Given the description of an element on the screen output the (x, y) to click on. 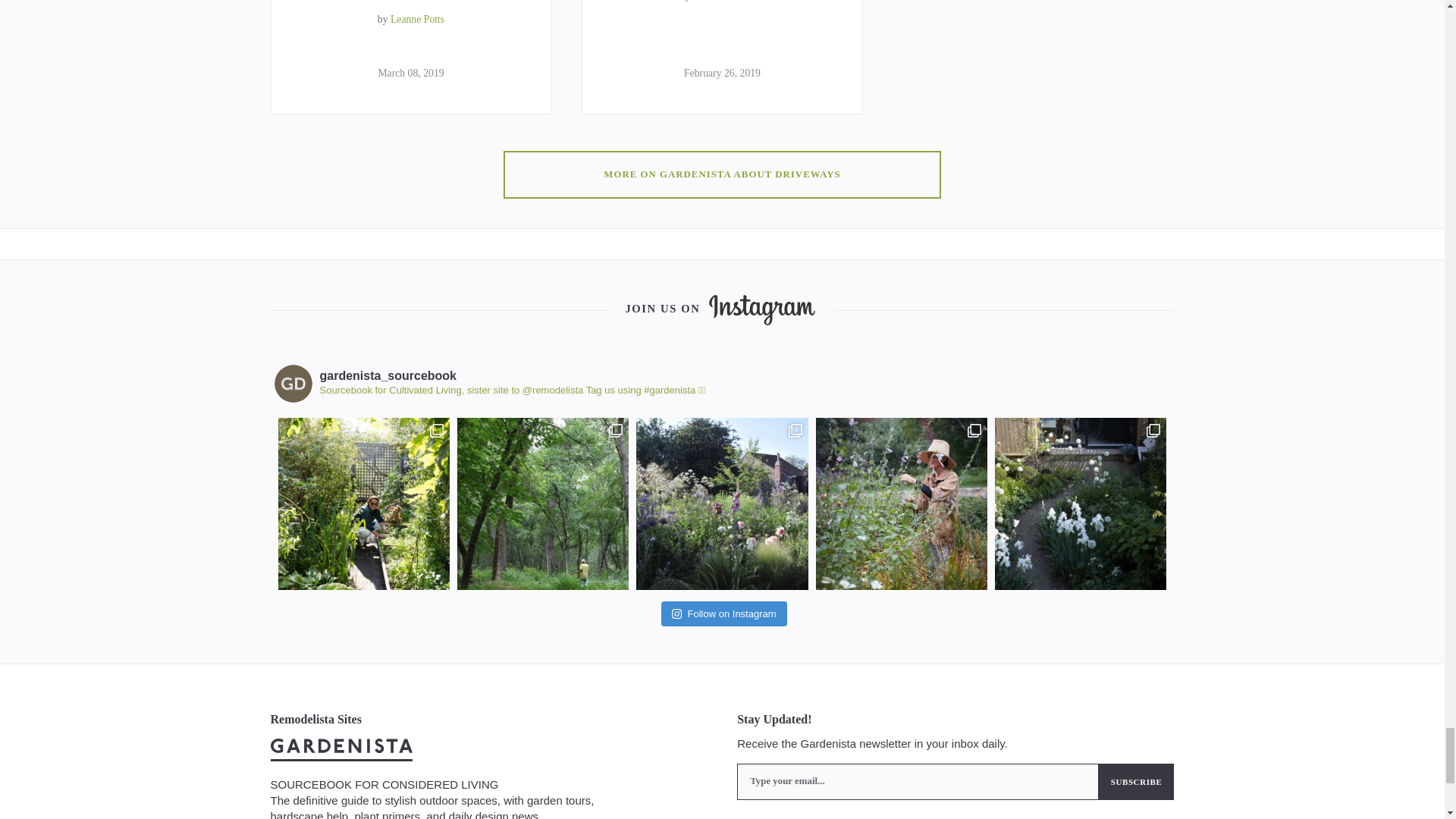
Subscribe (1136, 781)
